Given the description of an element on the screen output the (x, y) to click on. 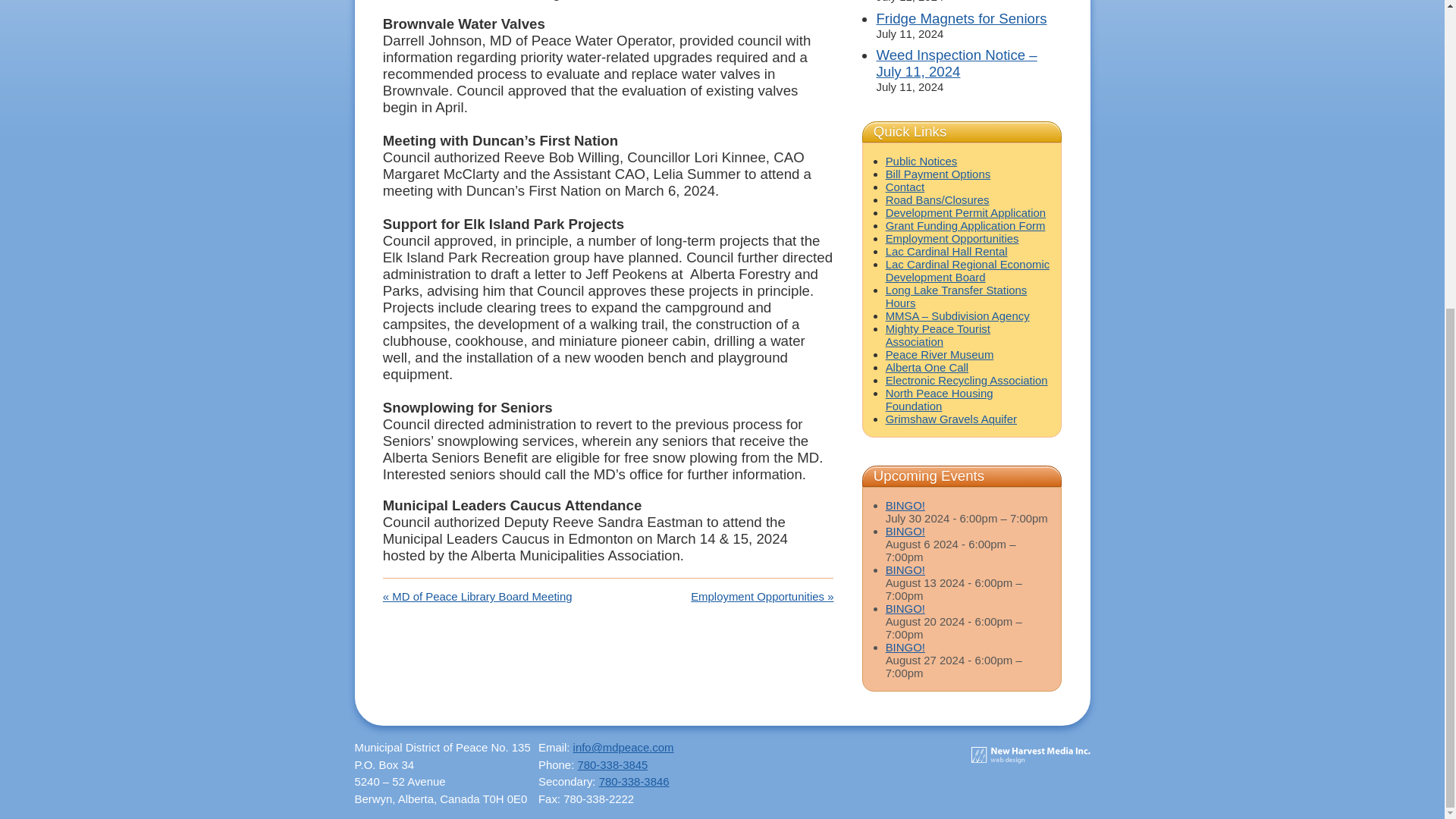
Web Design by New Harvest Media (1030, 754)
Web Design by New Harvest Media (1030, 757)
